Given the description of an element on the screen output the (x, y) to click on. 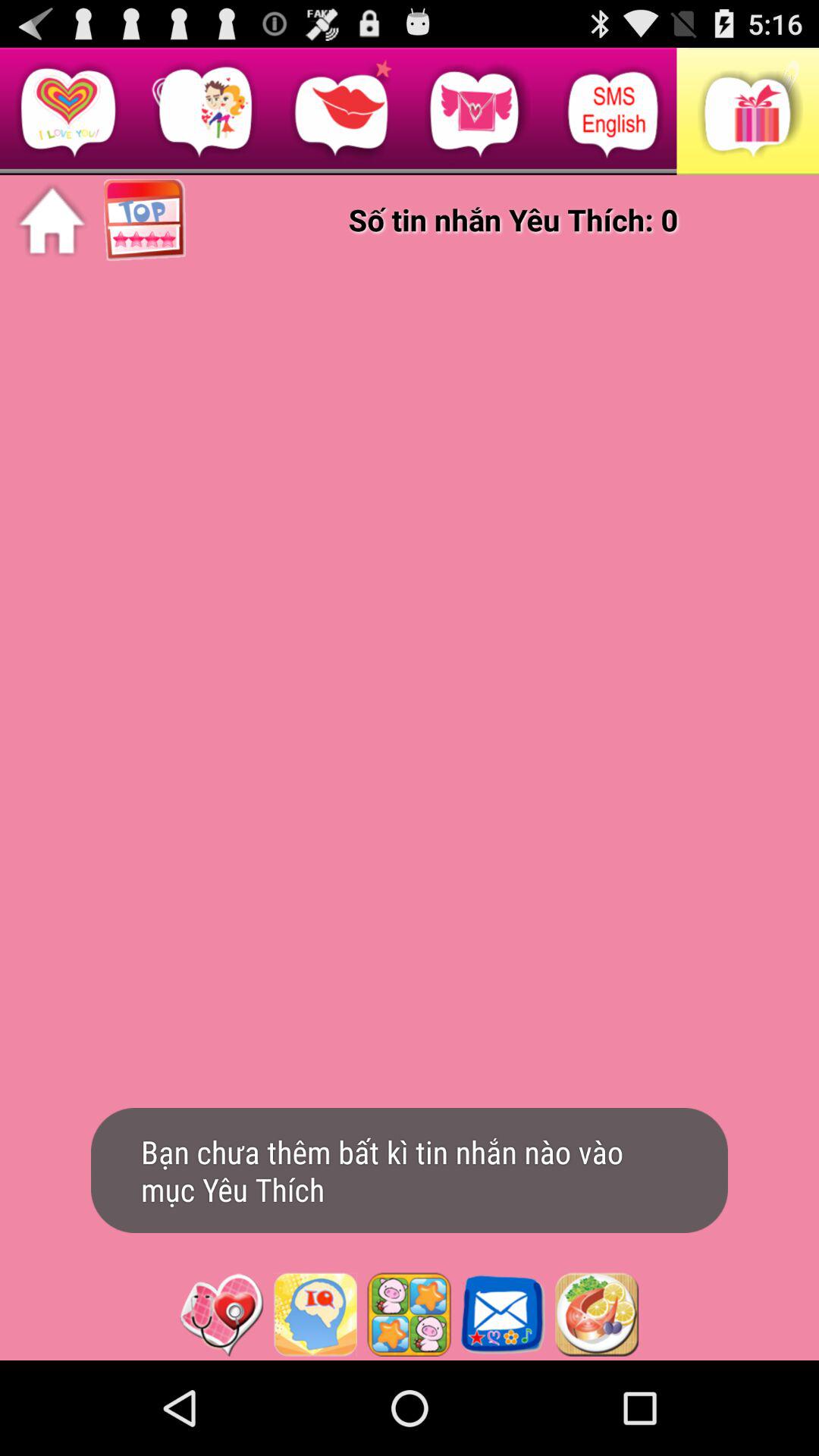
favorite this page (221, 1314)
